Given the description of an element on the screen output the (x, y) to click on. 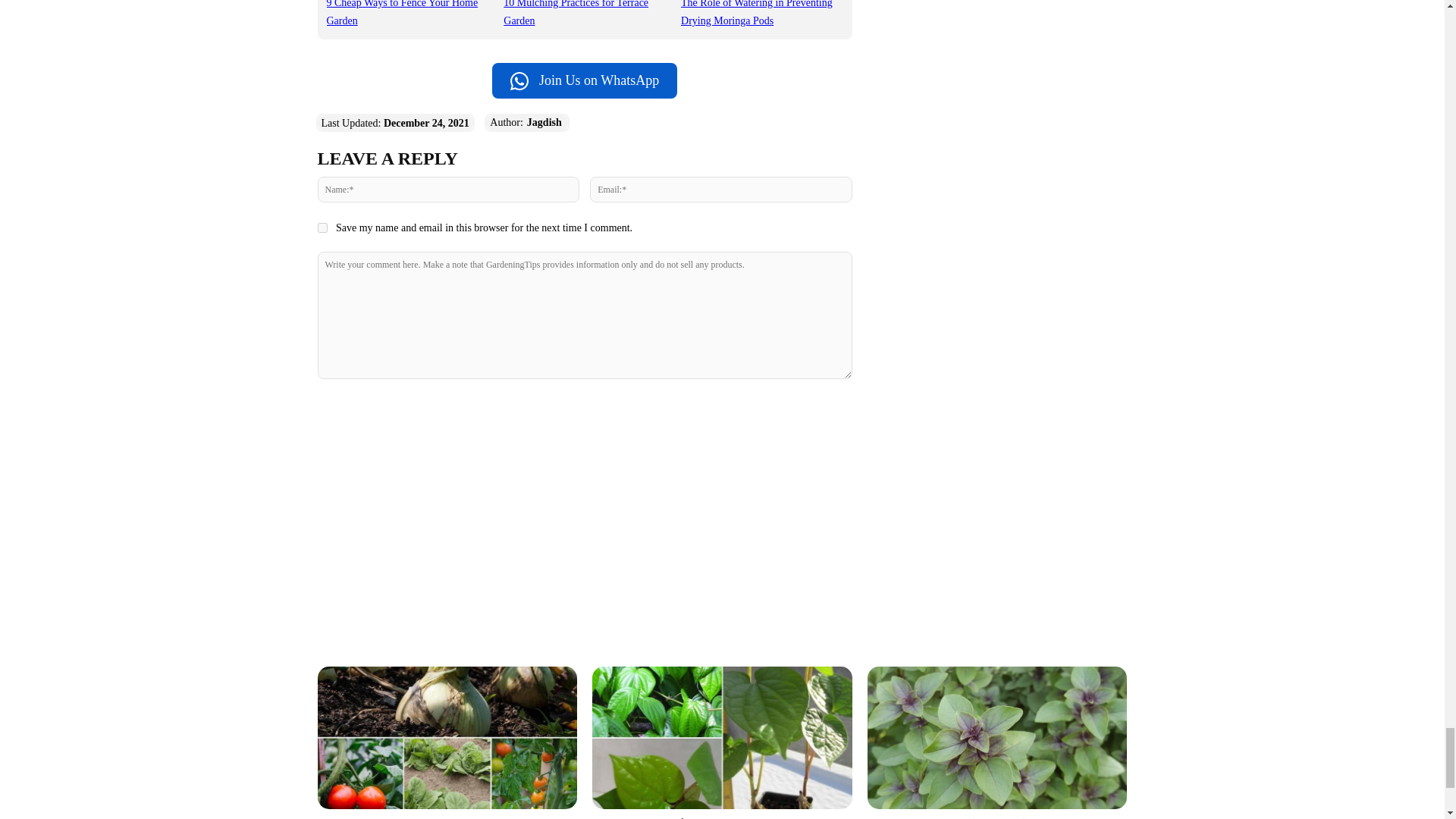
Post Comment (584, 409)
yes (321, 227)
